Given the description of an element on the screen output the (x, y) to click on. 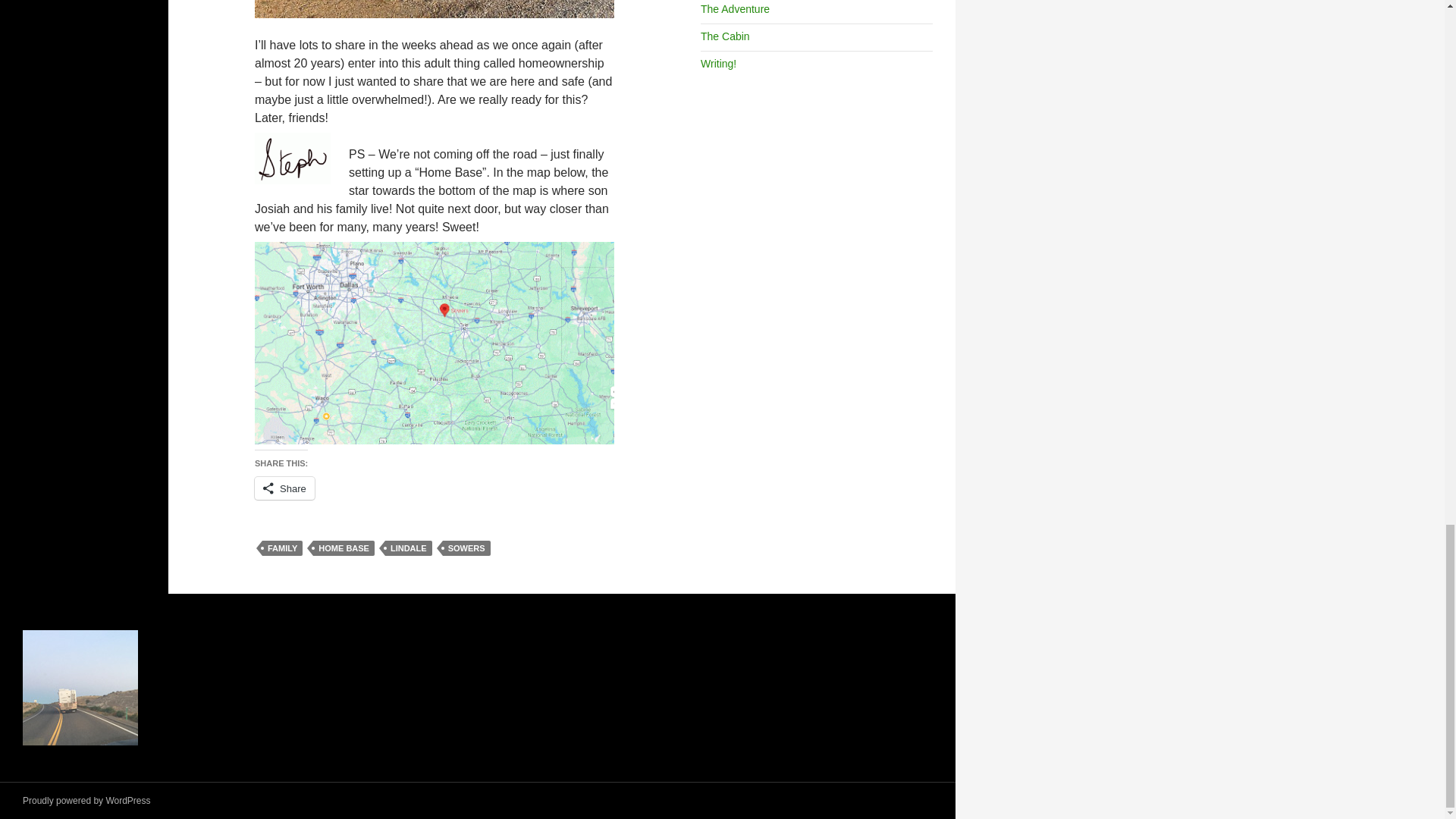
Share (284, 487)
FAMILY (282, 548)
SOWERS (466, 548)
LINDALE (408, 548)
HOME BASE (343, 548)
